Given the description of an element on the screen output the (x, y) to click on. 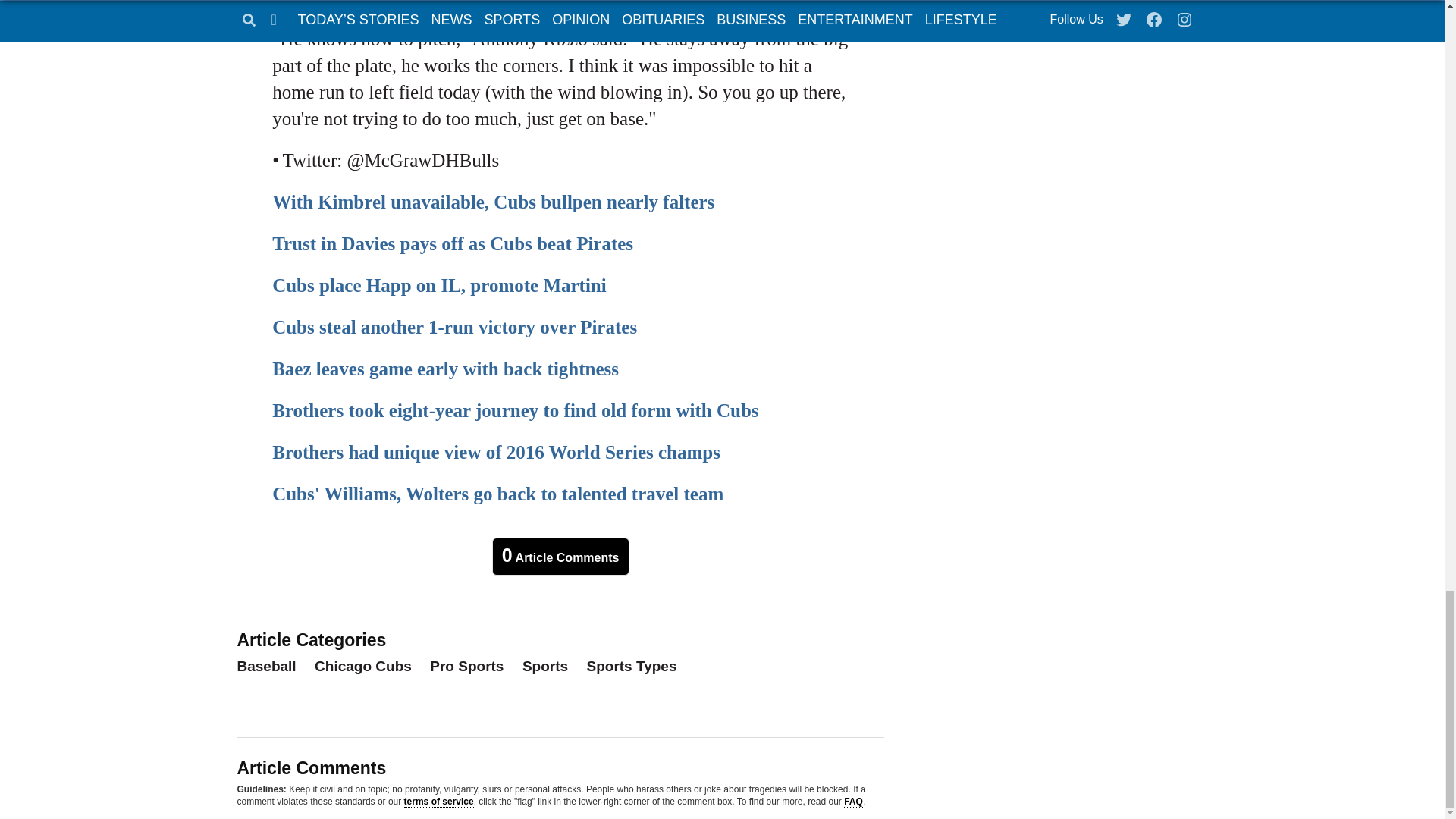
Brothers took eight-year journey to find old form with Cubs (515, 410)
Cubs steal another 1-run victory over Pirates (454, 326)
Trust in Davies pays off as Cubs beat Pirates (452, 243)
Cubs place Happ on IL, promote Martini (439, 285)
Brothers had unique view of 2016 World Series champs (496, 452)
Baez leaves game early with back tightness (445, 368)
Cubs' Williams, Wolters go back to talented travel team (497, 494)
With Kimbrel unavailable, Cubs bullpen nearly falters (493, 201)
